Given the description of an element on the screen output the (x, y) to click on. 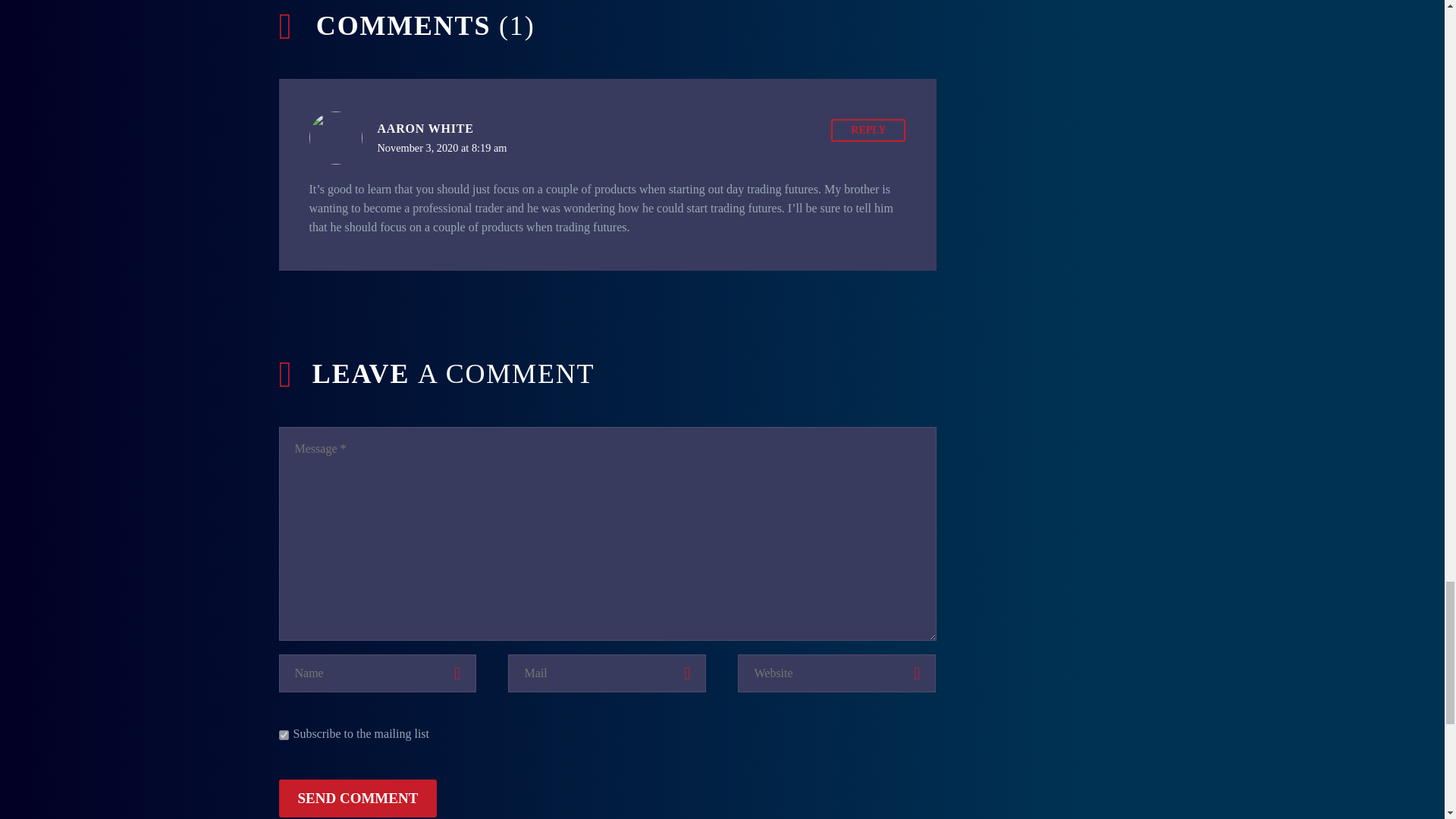
1 (283, 735)
